Given the description of an element on the screen output the (x, y) to click on. 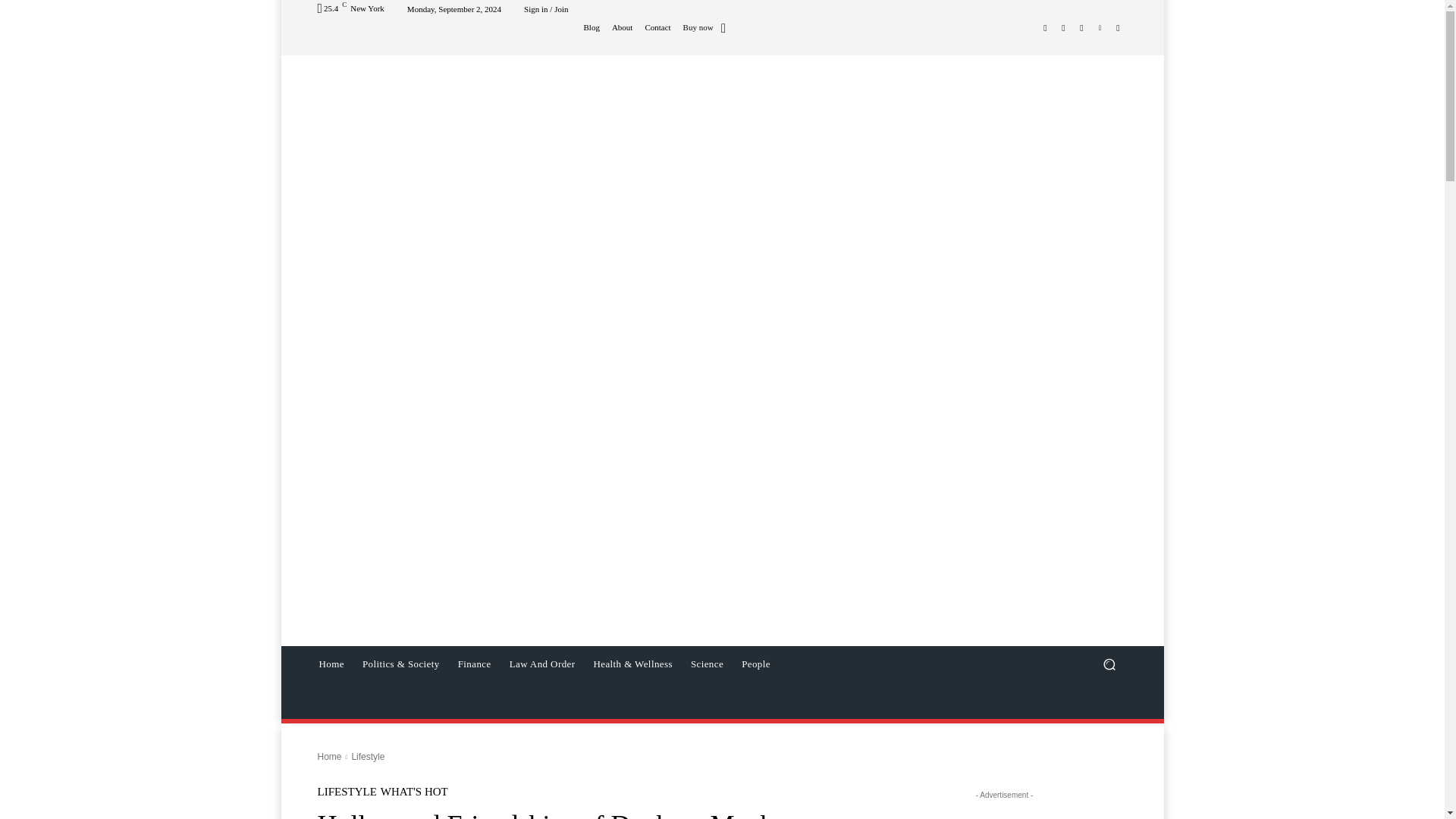
Youtube (1117, 27)
Blog (590, 27)
Contact (657, 27)
Finance (474, 664)
Vimeo (1099, 27)
Instagram (1062, 27)
About (622, 27)
Science (706, 664)
Twitter (1080, 27)
Law And Order (542, 664)
